Given the description of an element on the screen output the (x, y) to click on. 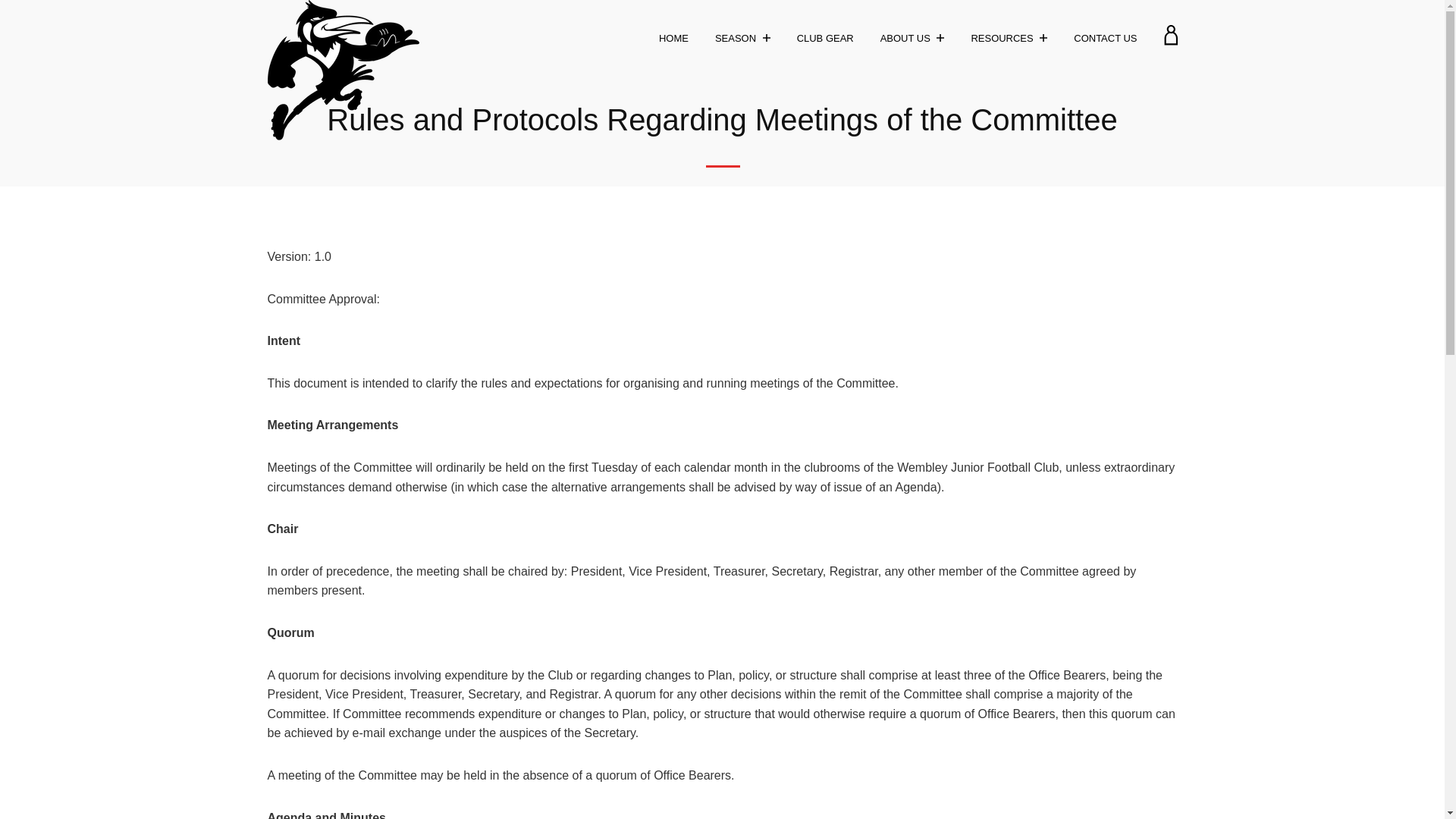
My Account (1169, 40)
HOME (676, 37)
CONTACT US (1107, 37)
SEASON (744, 36)
RESOURCES (1011, 36)
CLUB GEAR (826, 37)
ABOUT US (914, 36)
